Given the description of an element on the screen output the (x, y) to click on. 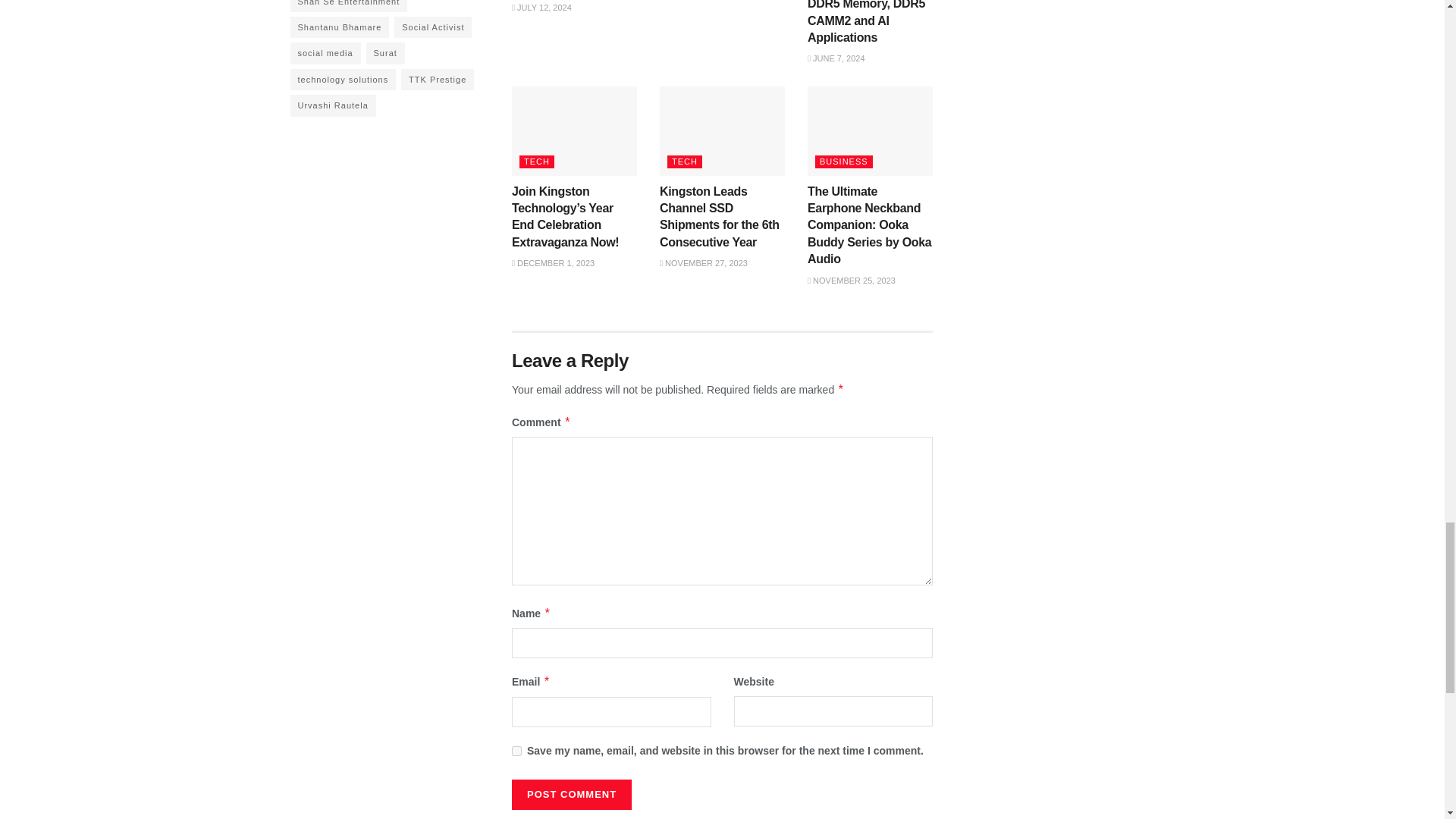
yes (516, 750)
Post Comment (571, 794)
